Given the description of an element on the screen output the (x, y) to click on. 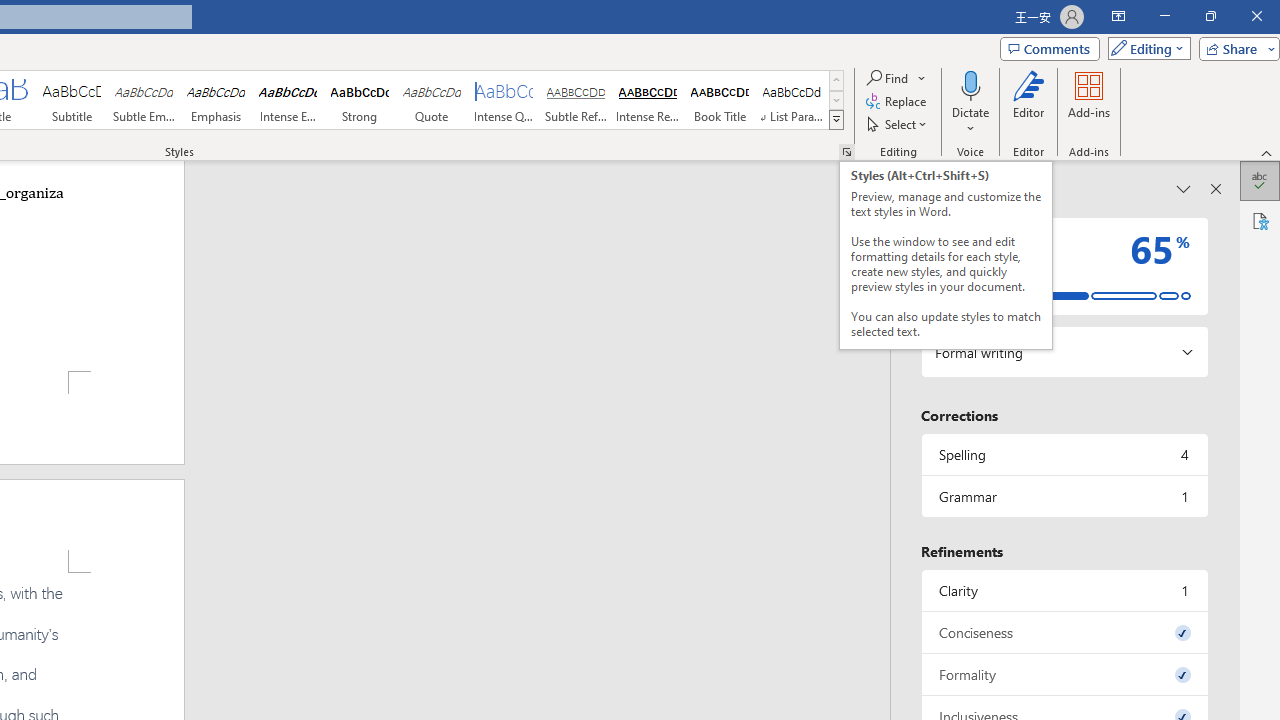
Conciseness, 0 issues. Press space or enter to review items. (1064, 632)
Close (1256, 16)
